Given the description of an element on the screen output the (x, y) to click on. 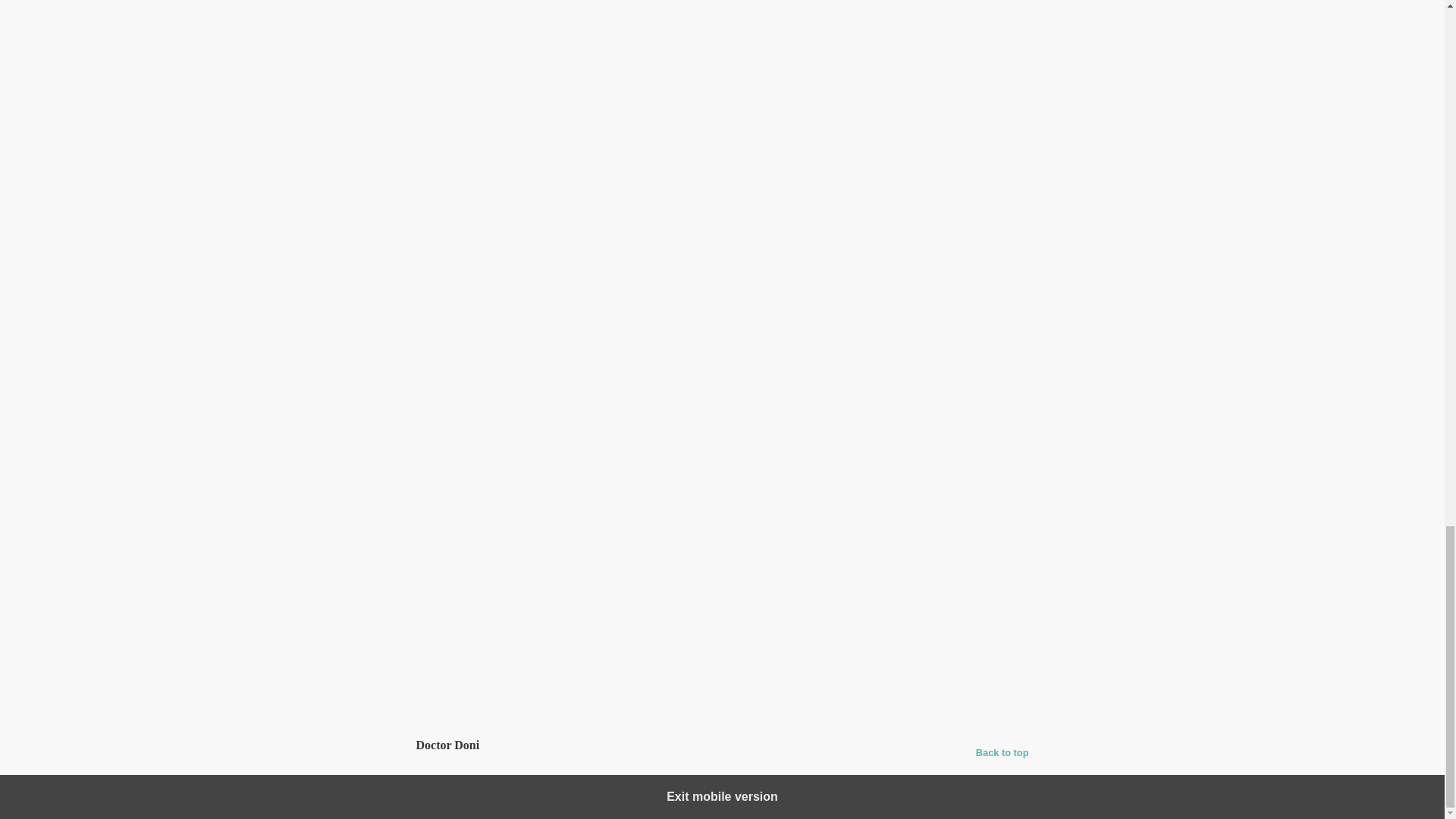
MTHFR (689, 606)
I touch on it in this article. (735, 106)
Leaky Gut (933, 459)
Back to top (1002, 752)
View Comments (721, 686)
folic acid (803, 638)
Genetic Mutations (622, 606)
natural health (954, 638)
